Given the description of an element on the screen output the (x, y) to click on. 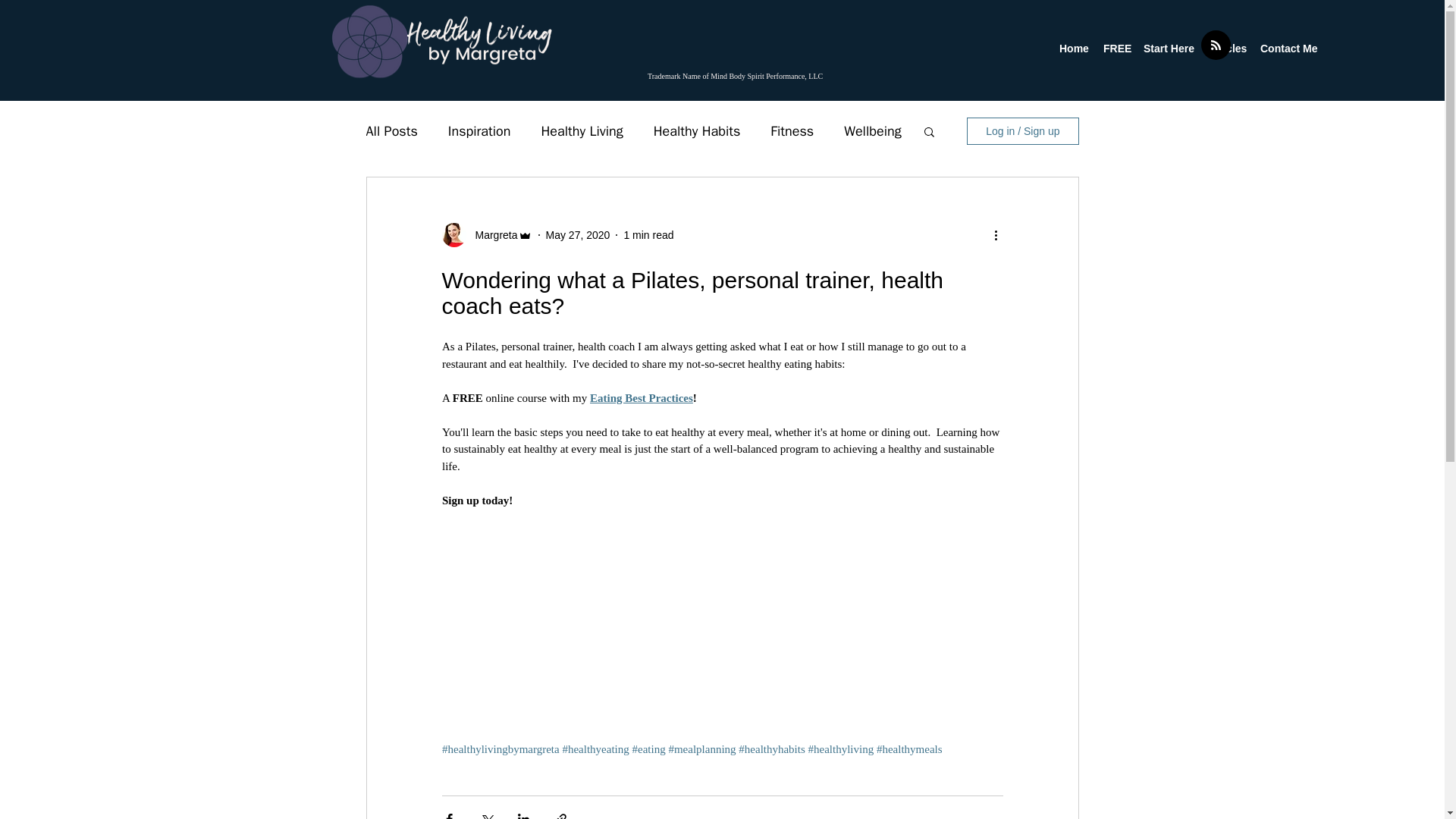
May 27, 2020 (578, 234)
Home (1073, 47)
Inspiration (479, 131)
Start Here (1167, 47)
Fitness (791, 131)
FREE (1115, 47)
Wellbeing (872, 131)
Contact Me (1287, 47)
Articles (1225, 47)
Healthy Habits (697, 131)
Healthy Living (581, 131)
All Posts (390, 131)
1 min read (647, 234)
Margreta (490, 235)
